Given the description of an element on the screen output the (x, y) to click on. 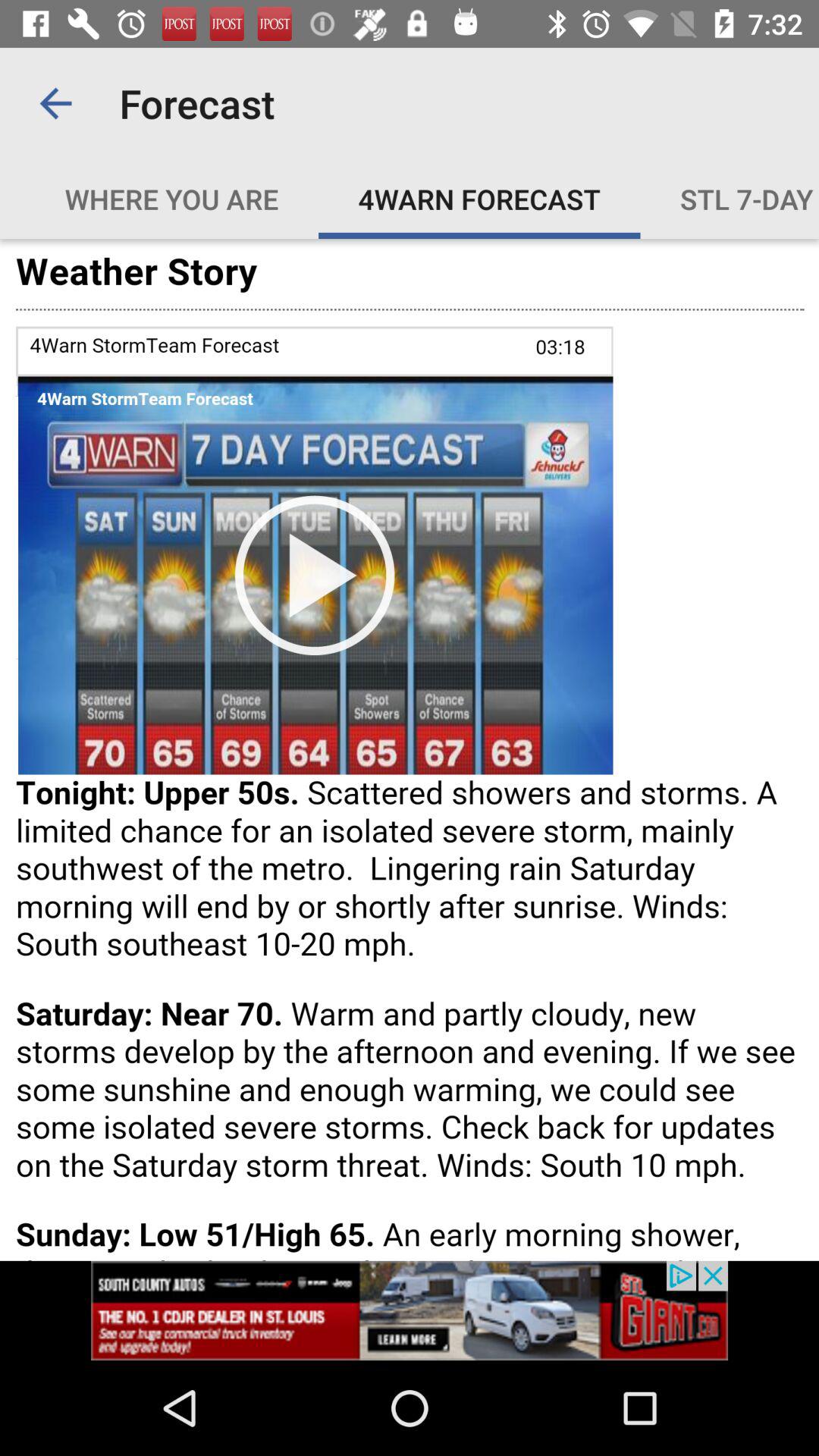
playing the forecast and read the file (409, 749)
